Given the description of an element on the screen output the (x, y) to click on. 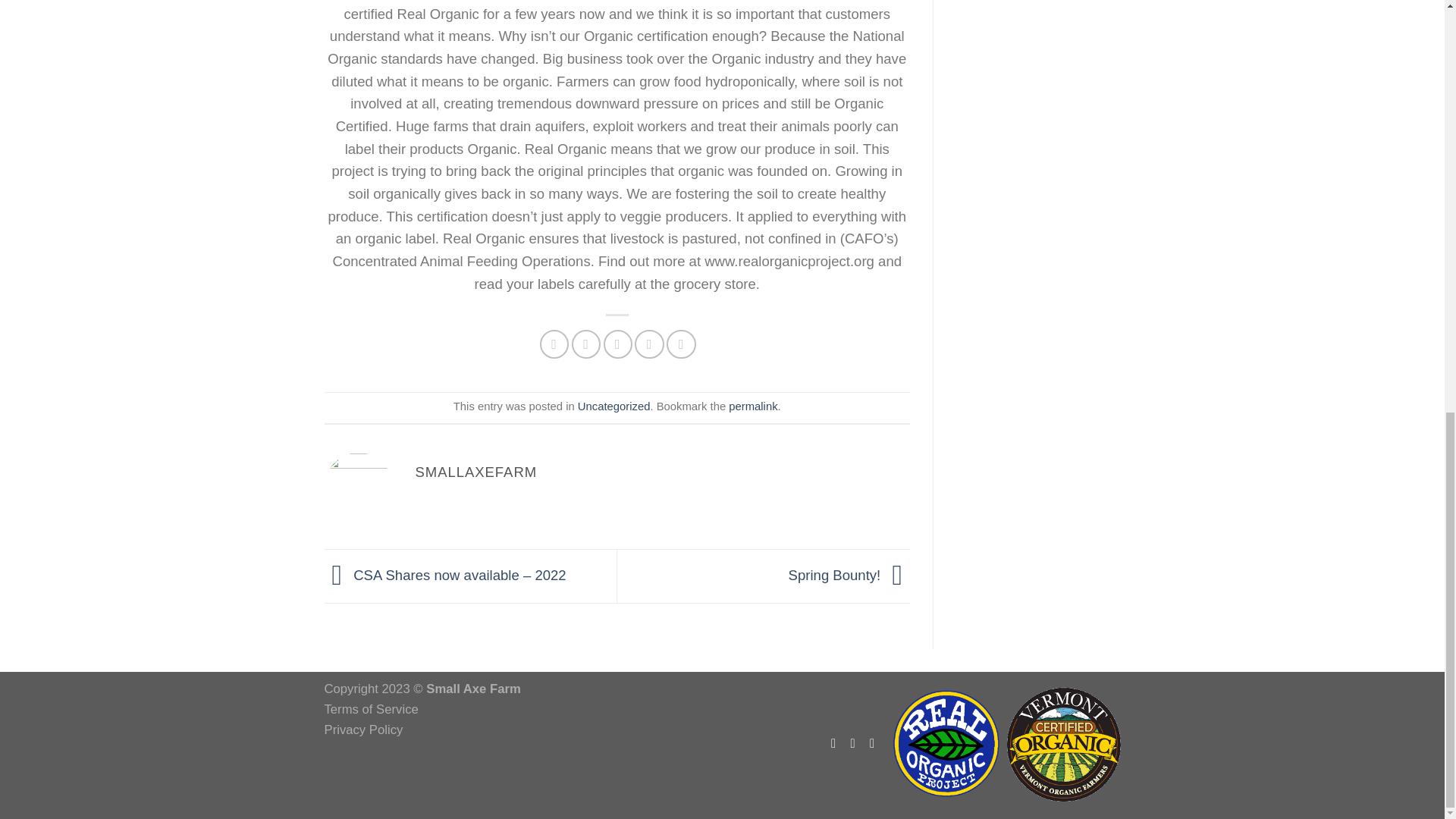
Follow on Facebook (837, 743)
Send us an email (875, 743)
Follow on Instagram (856, 743)
Uncategorized (614, 406)
Share on Facebook (554, 344)
Share on Twitter (585, 344)
Share on LinkedIn (680, 344)
Pin on Pinterest (648, 344)
Email to a Friend (617, 344)
